Given the description of an element on the screen output the (x, y) to click on. 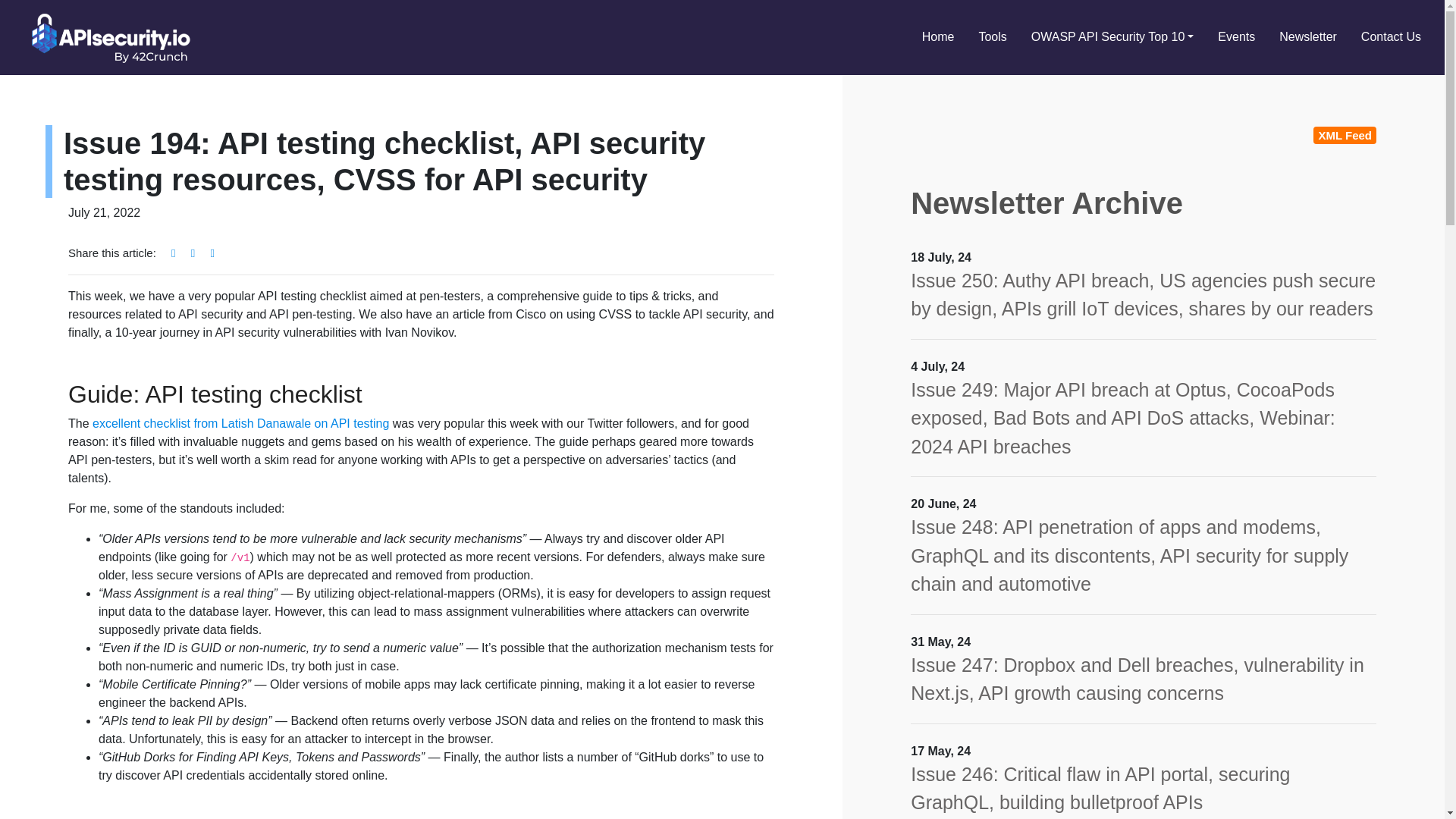
excellent checklist from Latish Danawale on API testing (240, 422)
Contact Us (1390, 37)
Events (1235, 37)
API Security News (105, 37)
Tools (991, 37)
Newsletter (1307, 37)
Events (1235, 37)
Home (938, 37)
Contact Us (1390, 37)
Home (938, 37)
Tools (991, 37)
